Given the description of an element on the screen output the (x, y) to click on. 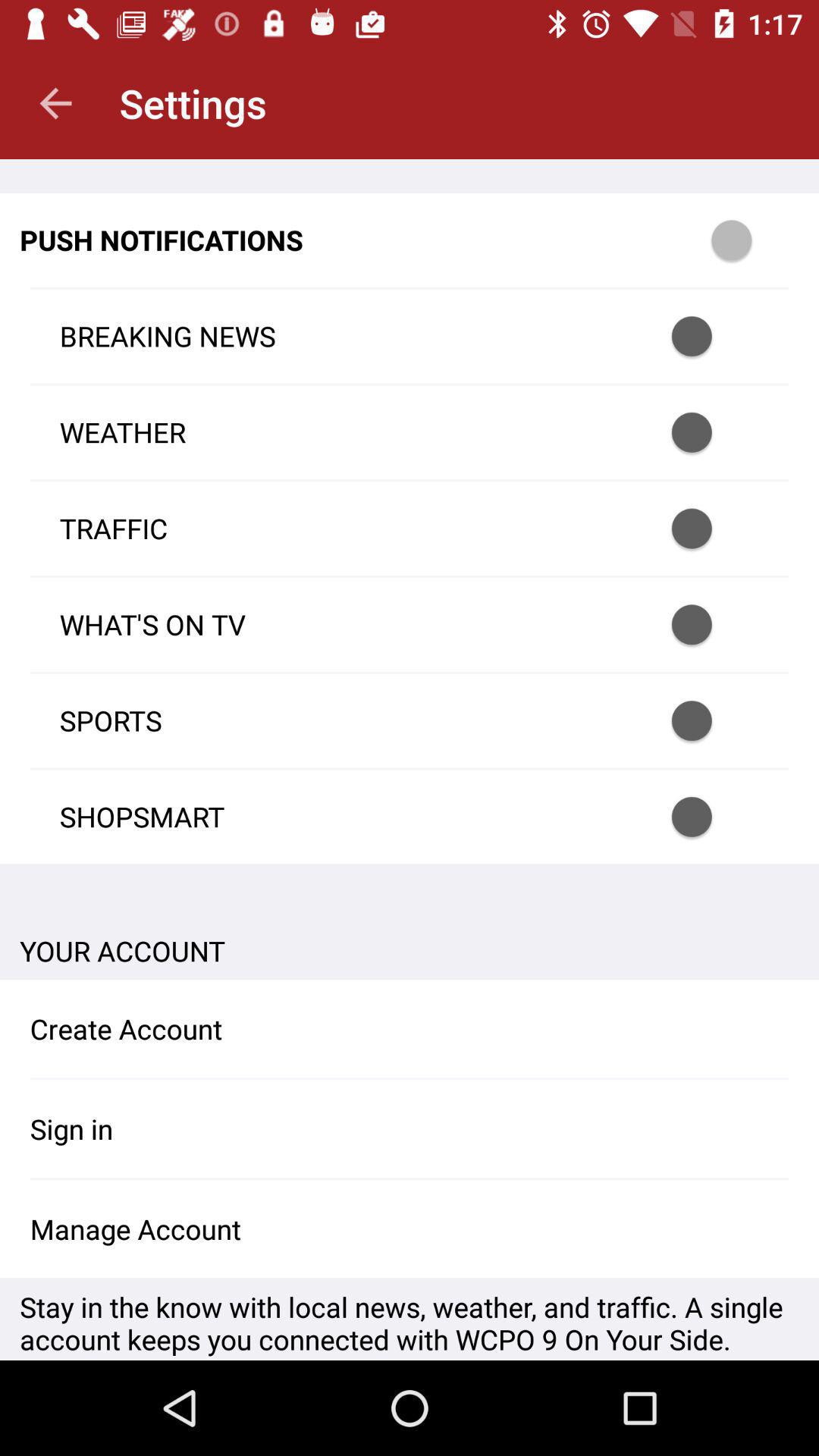
toggle push notification option (711, 624)
